Given the description of an element on the screen output the (x, y) to click on. 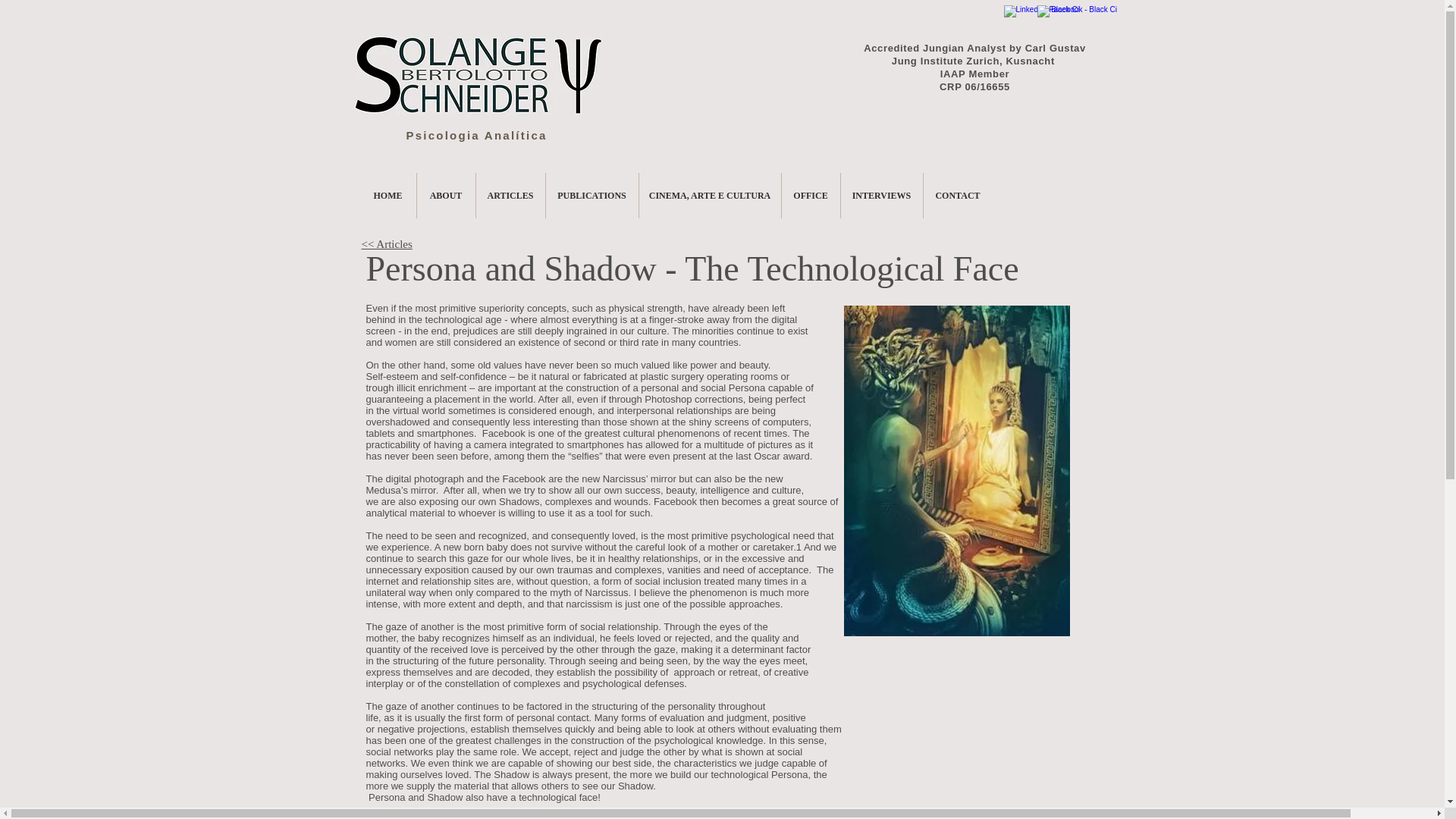
PUBLICATIONS (592, 195)
HOME (386, 195)
Medusa.jpg (955, 470)
CINEMA, ARTE E CULTURA (709, 195)
ABOUT (446, 195)
CONTACT (957, 195)
logo pdf.jpg (476, 73)
ARTICLES (510, 195)
INTERVIEWS (880, 195)
OFFICE (810, 195)
